Given the description of an element on the screen output the (x, y) to click on. 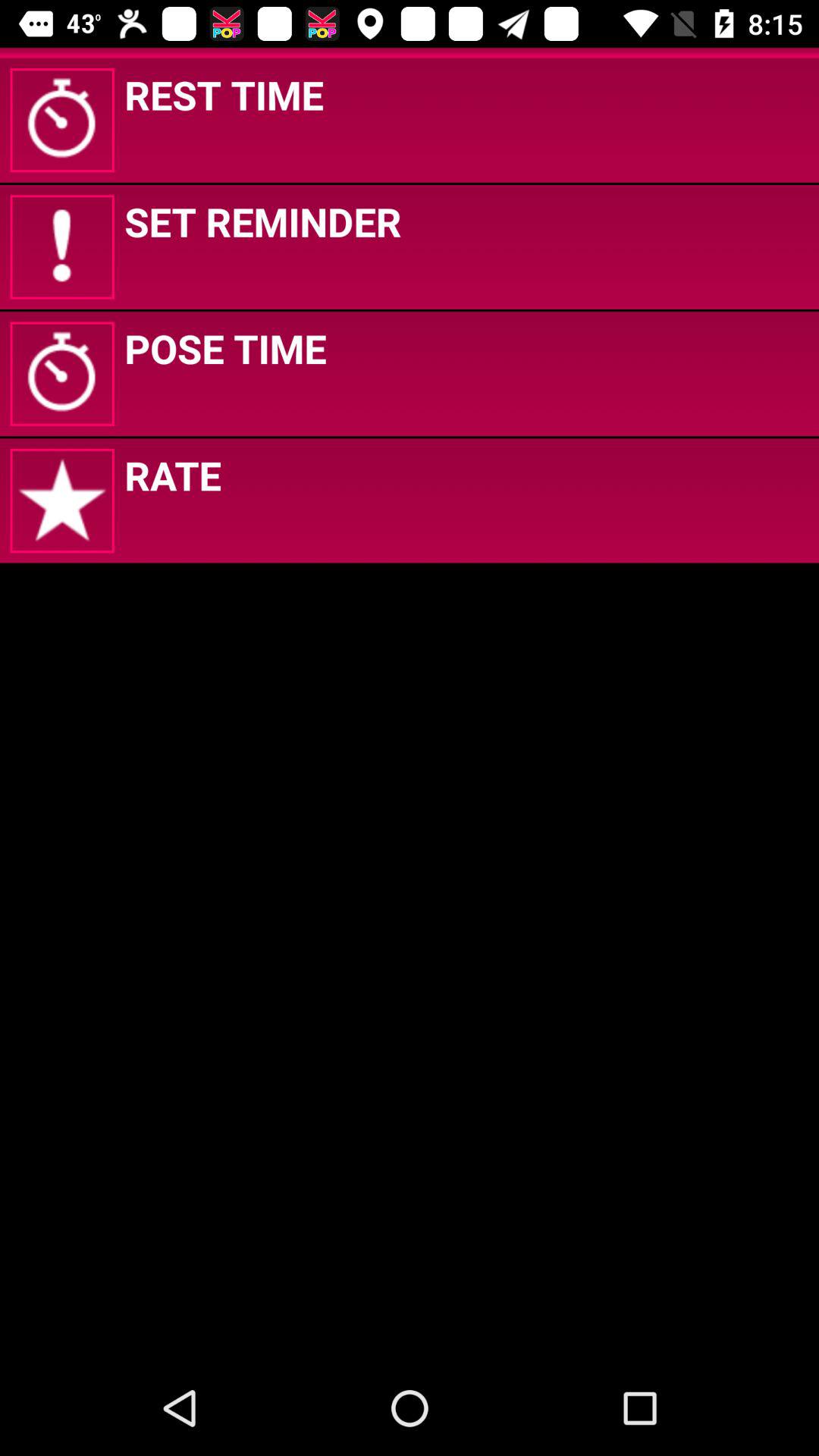
jump to set reminder icon (262, 221)
